Given the description of an element on the screen output the (x, y) to click on. 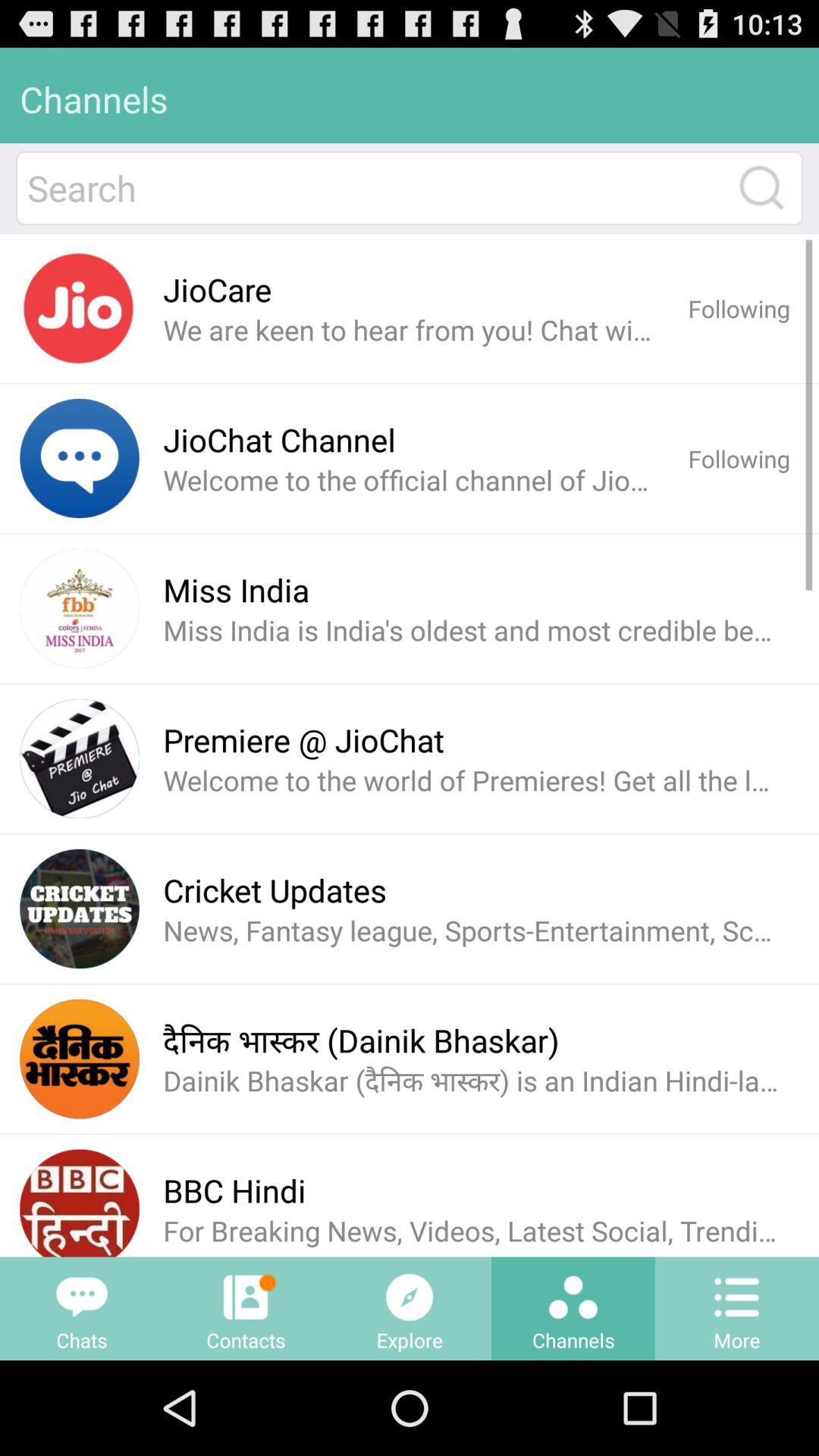
open search dialogue (761, 187)
